Given the description of an element on the screen output the (x, y) to click on. 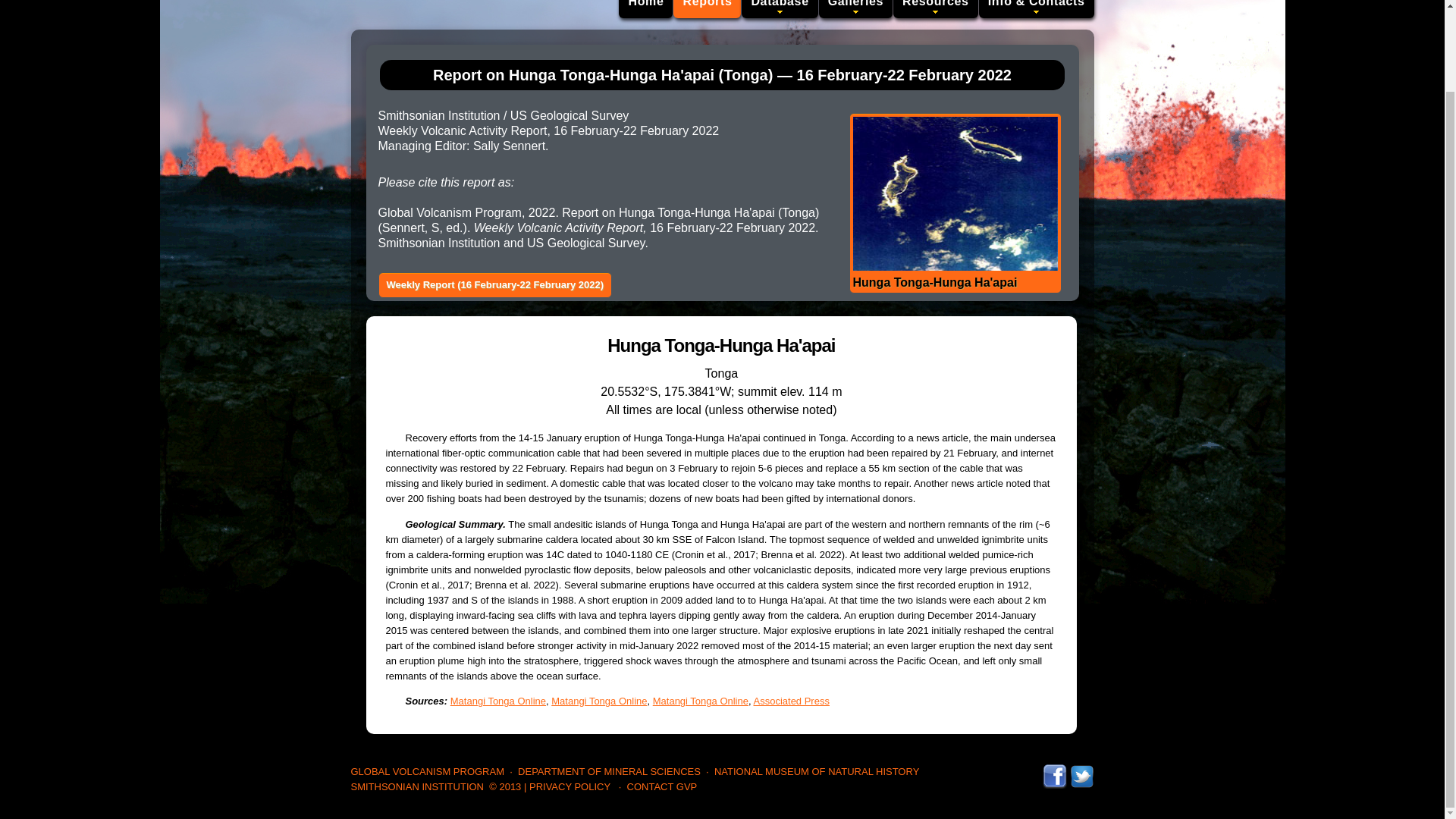
Link to Privacy Notice (569, 786)
Reports (706, 9)
Matangi Tonga Online (598, 700)
Send email to GVP (662, 786)
Hunga Tonga-Hunga Ha'apai (954, 203)
Home (645, 9)
Twitter (1080, 771)
Facebook (1054, 771)
Galleries (855, 9)
Matangi Tonga Online (497, 700)
Link to Copyright Notice (505, 786)
Database (778, 9)
Resources (935, 9)
